Given the description of an element on the screen output the (x, y) to click on. 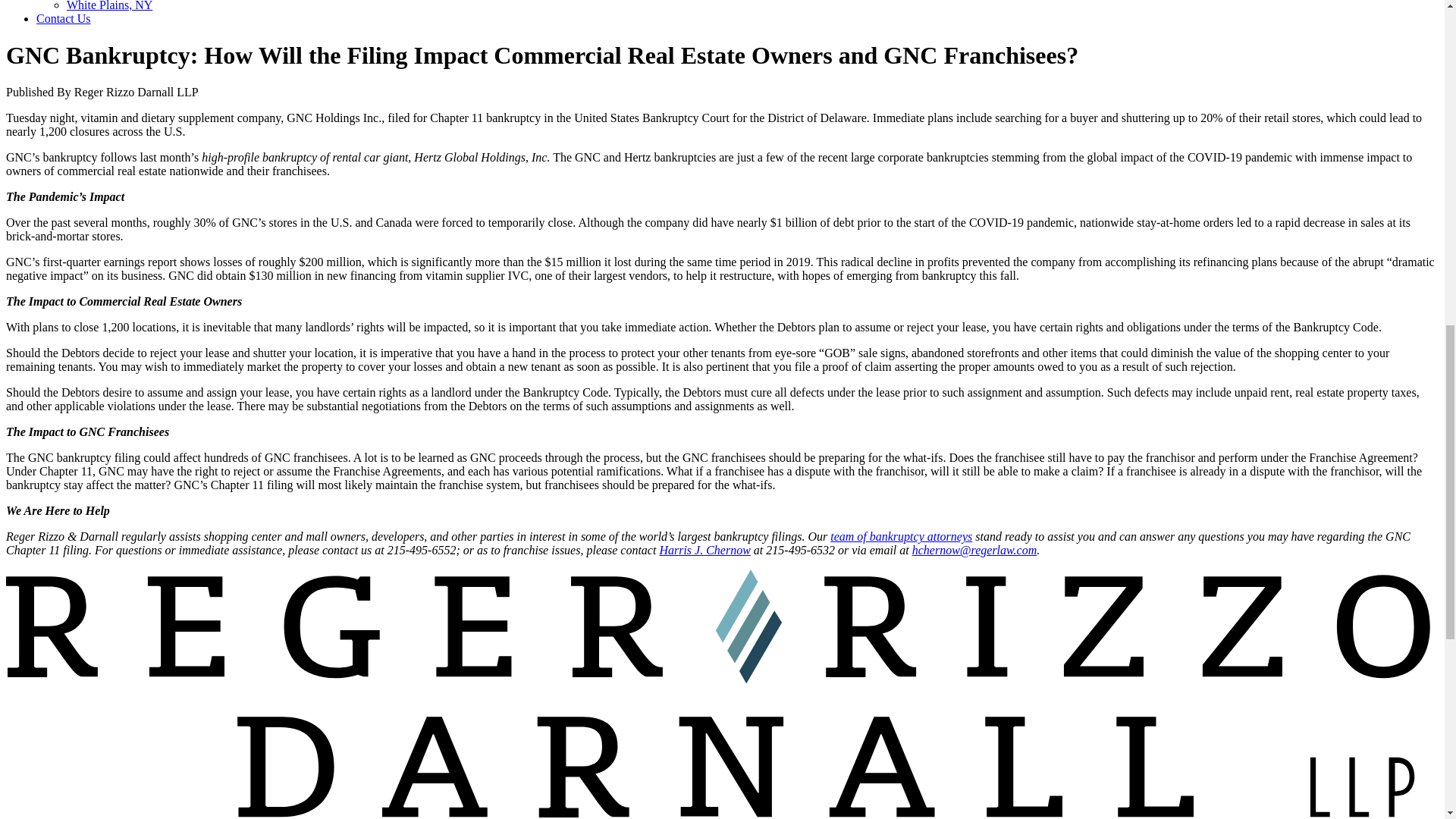
Harris J. Chernow (704, 549)
team of bankruptcy attorneys (900, 535)
White Plains, NY (109, 5)
Contact Us (63, 18)
